Given the description of an element on the screen output the (x, y) to click on. 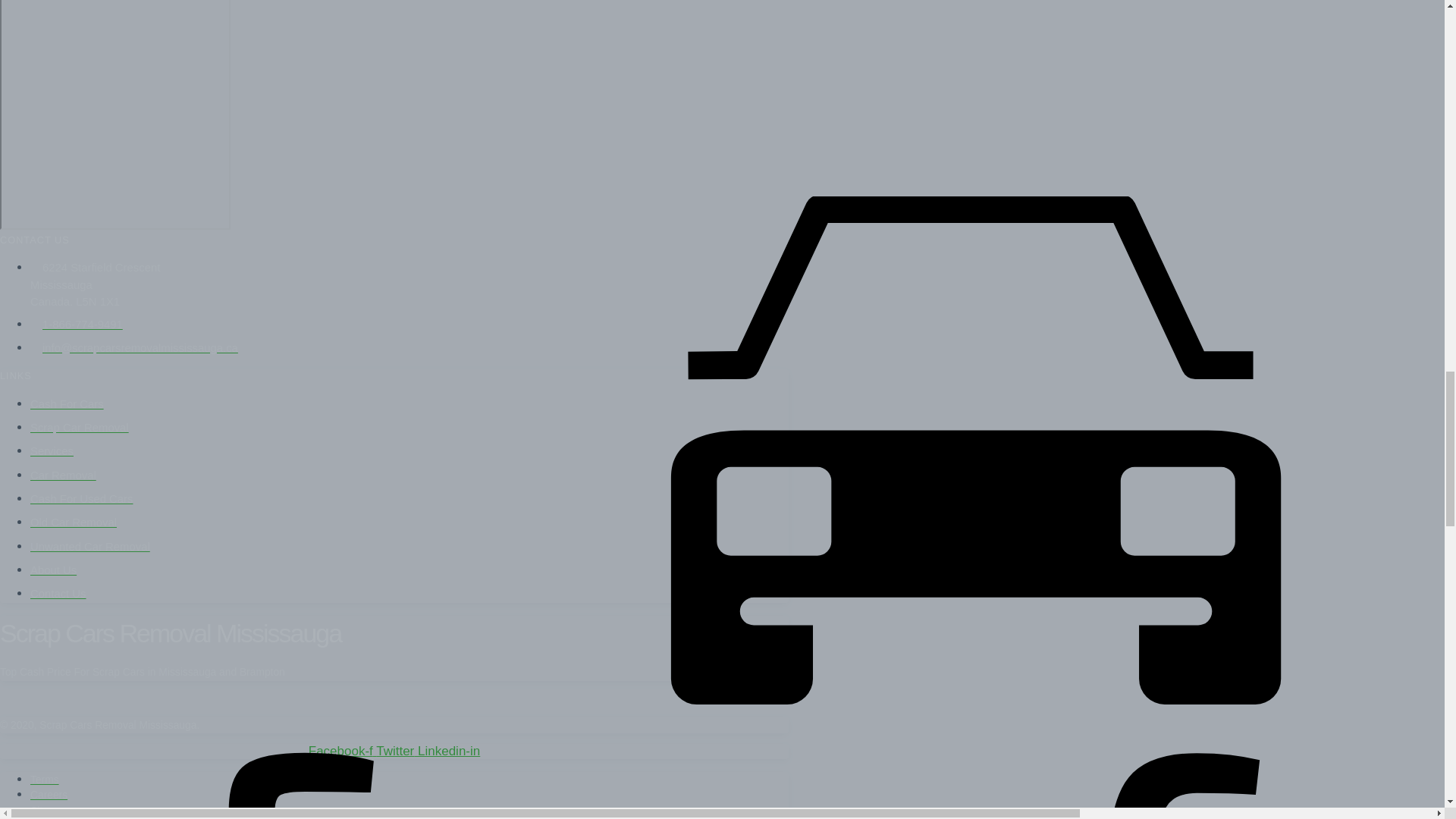
Car Removal (63, 475)
Cash For Used Cars (81, 499)
Twitter (396, 750)
Facebook-f (341, 750)
About Us (53, 570)
Scrap Car Removal (79, 427)
Linkedin-in (448, 750)
Services (52, 451)
Cash For Cars (66, 404)
Careers (48, 794)
1-866-774-9491 (76, 324)
Contact Us (57, 593)
Old Car Removal (73, 522)
Unwanted Car Removal (89, 546)
Terms (44, 779)
